Given the description of an element on the screen output the (x, y) to click on. 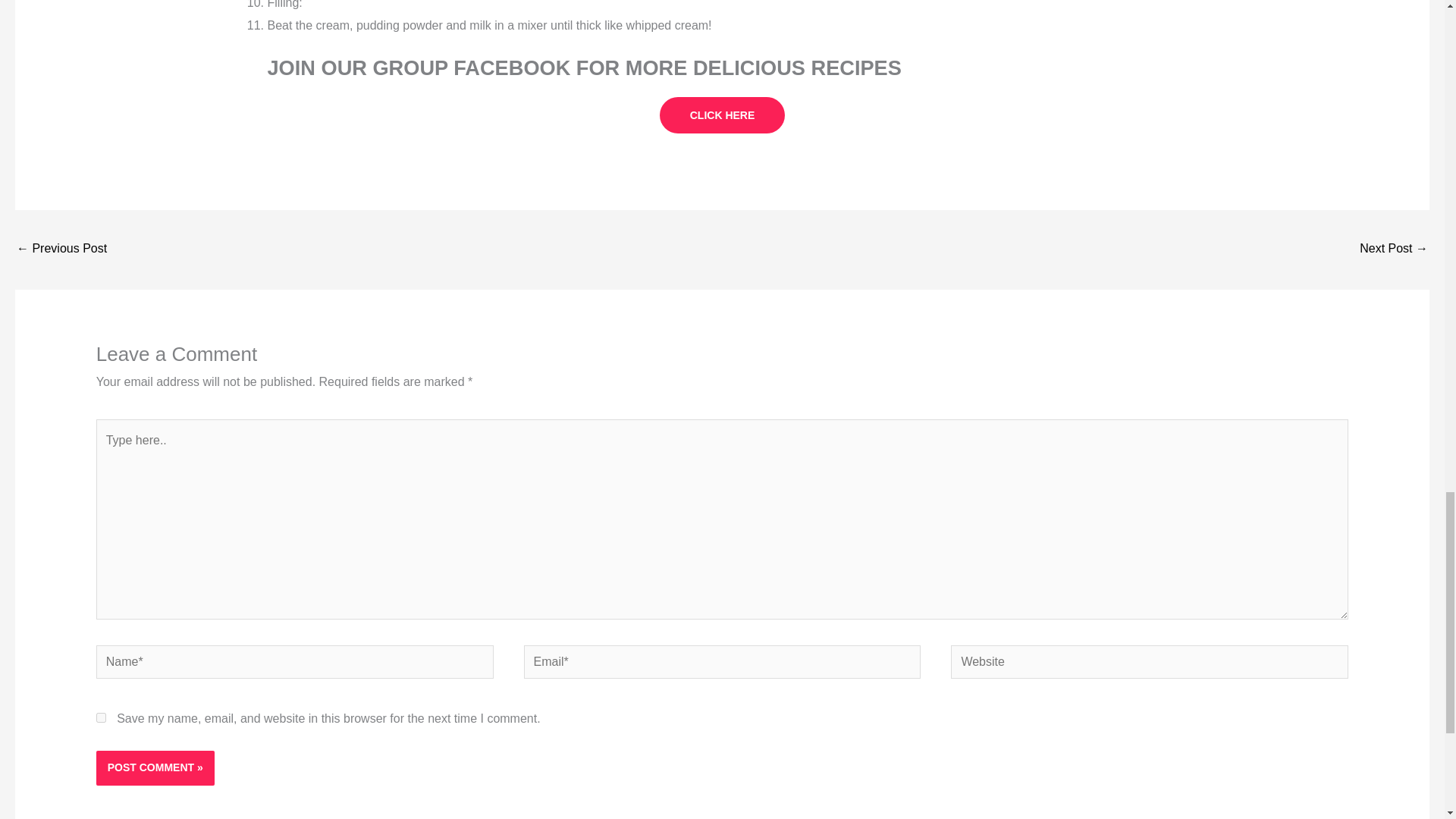
Homemade donuts (1393, 249)
yes (101, 717)
easy Mexican Taco Lasagna (61, 249)
CLICK HERE (722, 115)
